Given the description of an element on the screen output the (x, y) to click on. 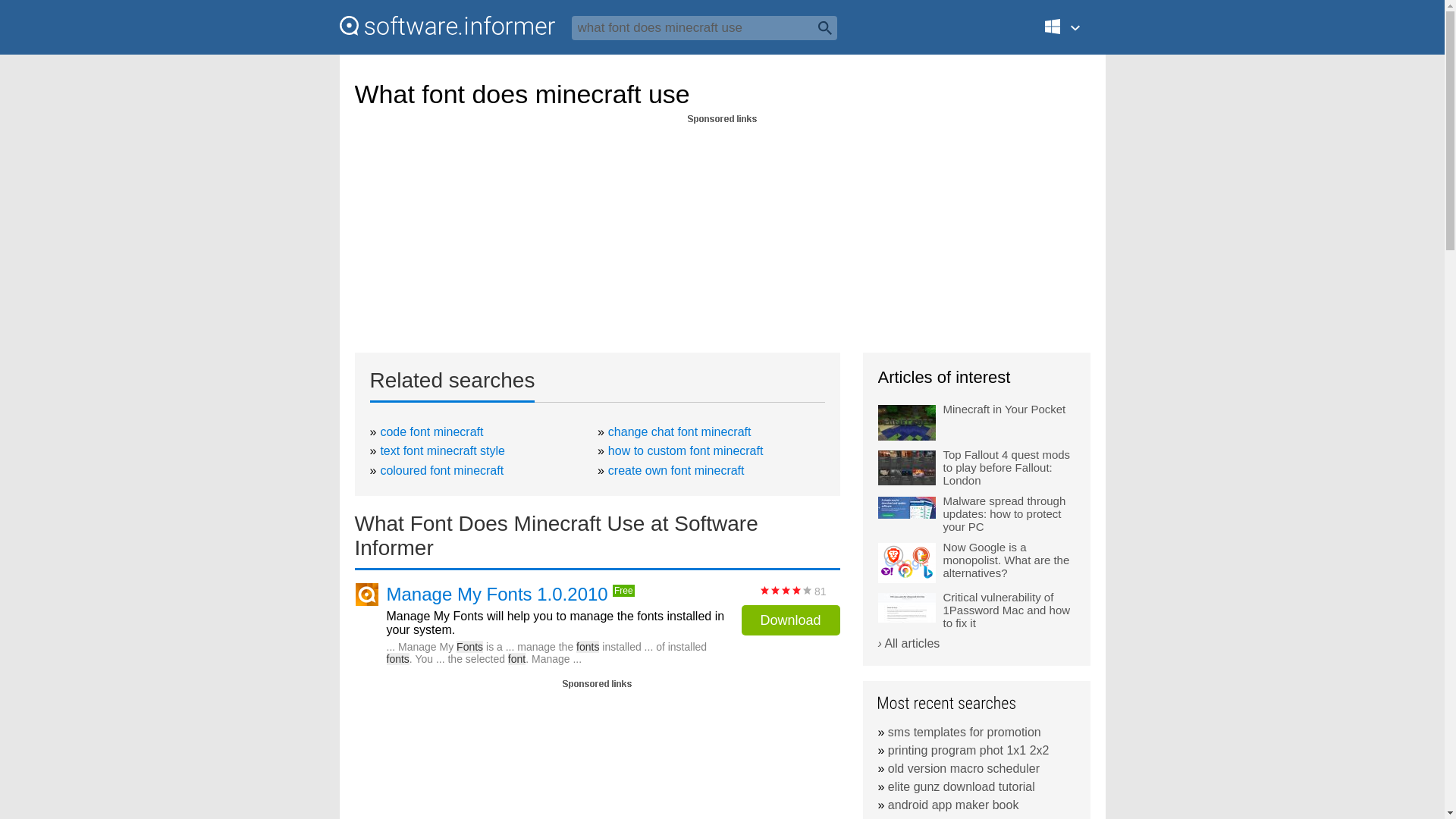
81 votes (785, 590)
Windows (1070, 33)
Manage My Fonts 1.0.2010 (497, 594)
what font does minecraft use (704, 27)
how to custom font minecraft (685, 450)
code font minecraft (431, 431)
text font minecraft style (442, 450)
Software downloads and reviews (446, 25)
